Given the description of an element on the screen output the (x, y) to click on. 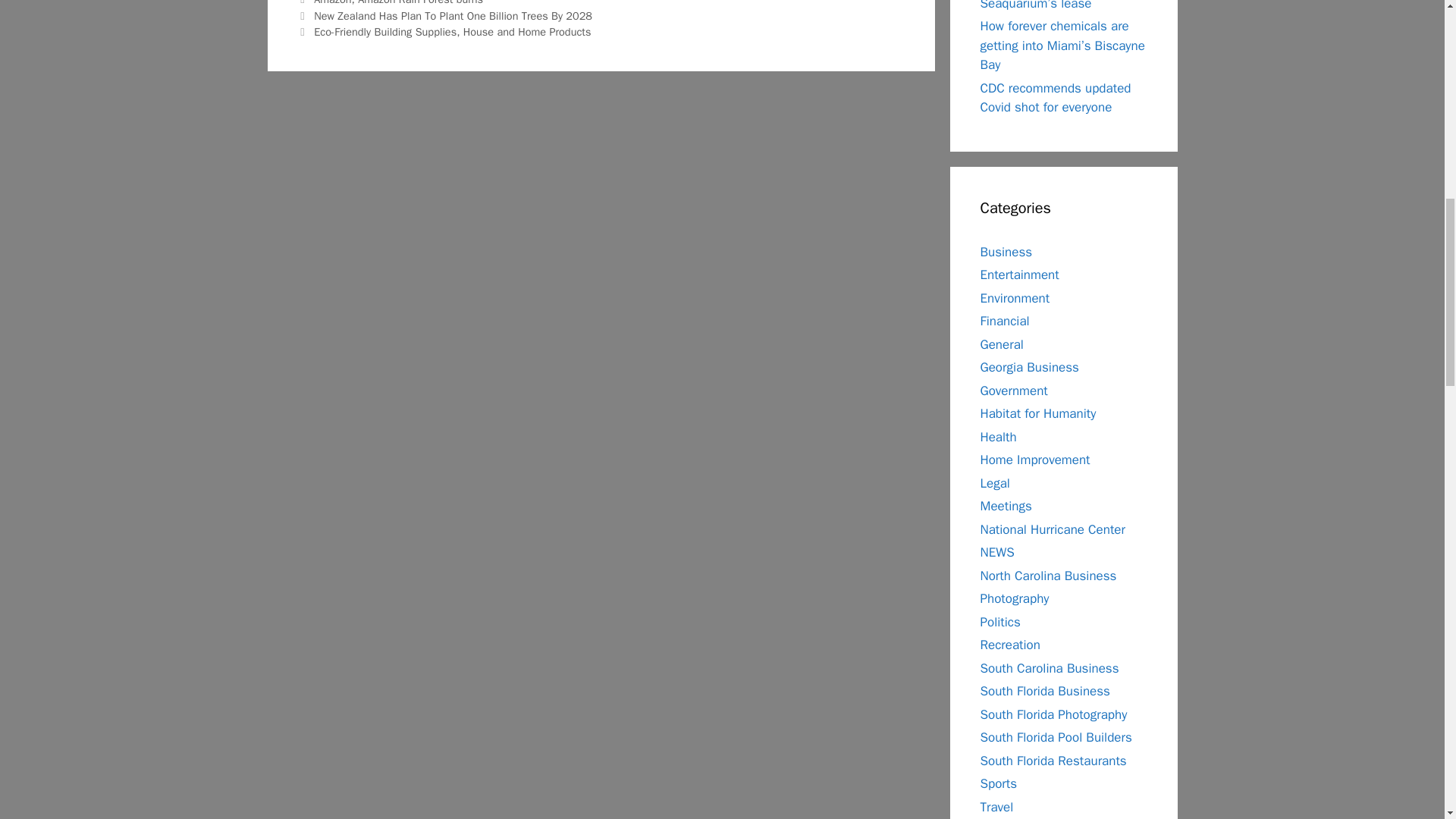
Entertainment (1018, 274)
Government (1012, 390)
Habitat for Humanity (1037, 413)
Environment (1014, 297)
New Zealand Has Plan To Plant One Billion Trees By 2028 (453, 15)
Eco-Friendly Building Supplies, House and Home Products (452, 31)
CDC recommends updated Covid shot for everyone (1055, 98)
Home Improvement (1034, 459)
Recreation (1009, 644)
Health (997, 437)
Legal (994, 482)
General (1001, 344)
Politics (999, 621)
Georgia Business (1028, 367)
Photography (1013, 598)
